Given the description of an element on the screen output the (x, y) to click on. 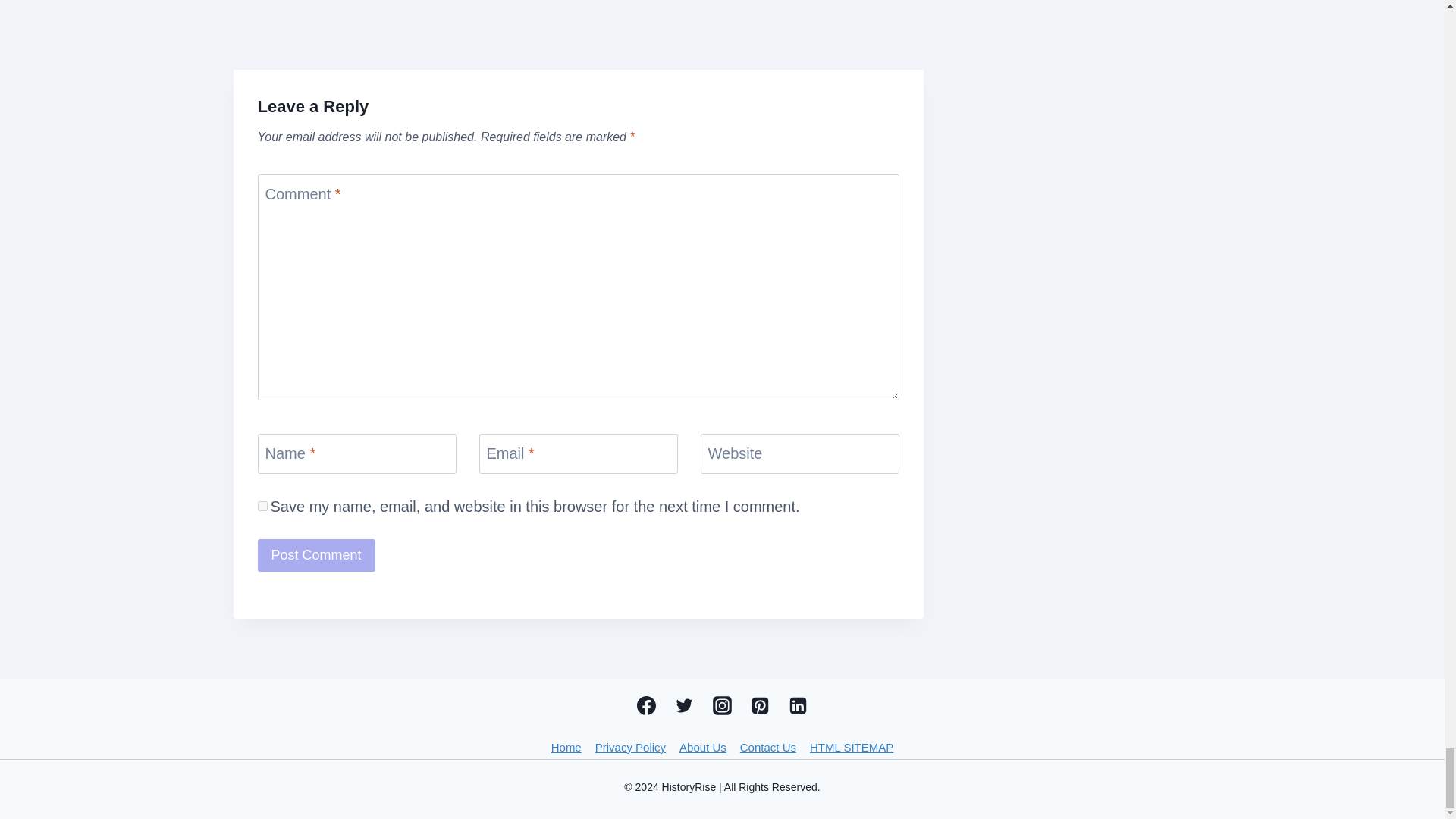
Post Comment (316, 554)
yes (262, 506)
